Given the description of an element on the screen output the (x, y) to click on. 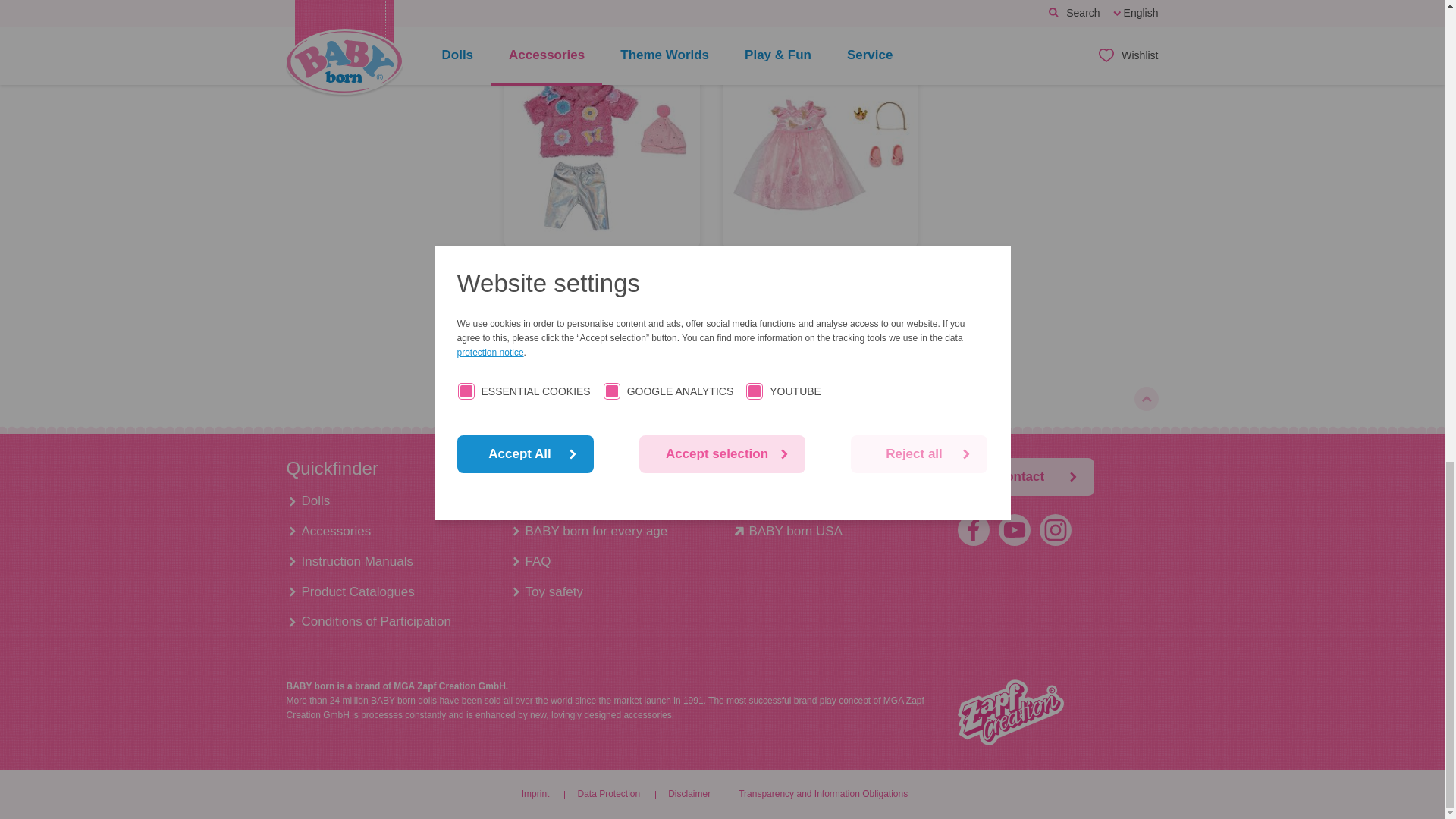
BABY born Pink Coat Set 43cm (601, 280)
Zapf Creation (1009, 712)
BABY born Deluxe Princess 43 m (819, 152)
BABY born Pink Coat Set 43cm (601, 152)
BABY born Deluxe Princess 43 m (820, 280)
